Given the description of an element on the screen output the (x, y) to click on. 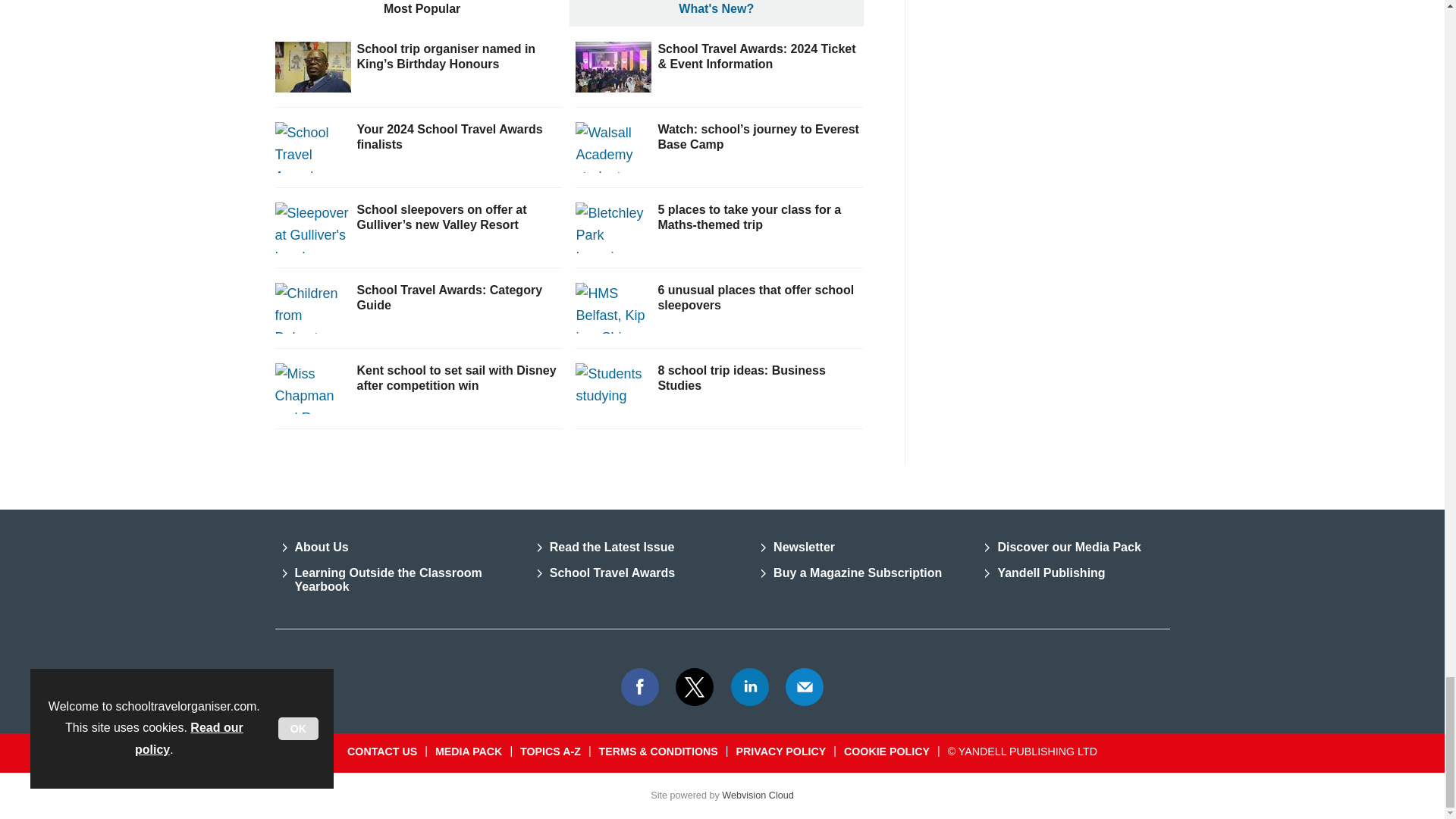
Email us (804, 686)
Follow us on LinkedIn (750, 686)
Like our Facebook page (639, 686)
